Given the description of an element on the screen output the (x, y) to click on. 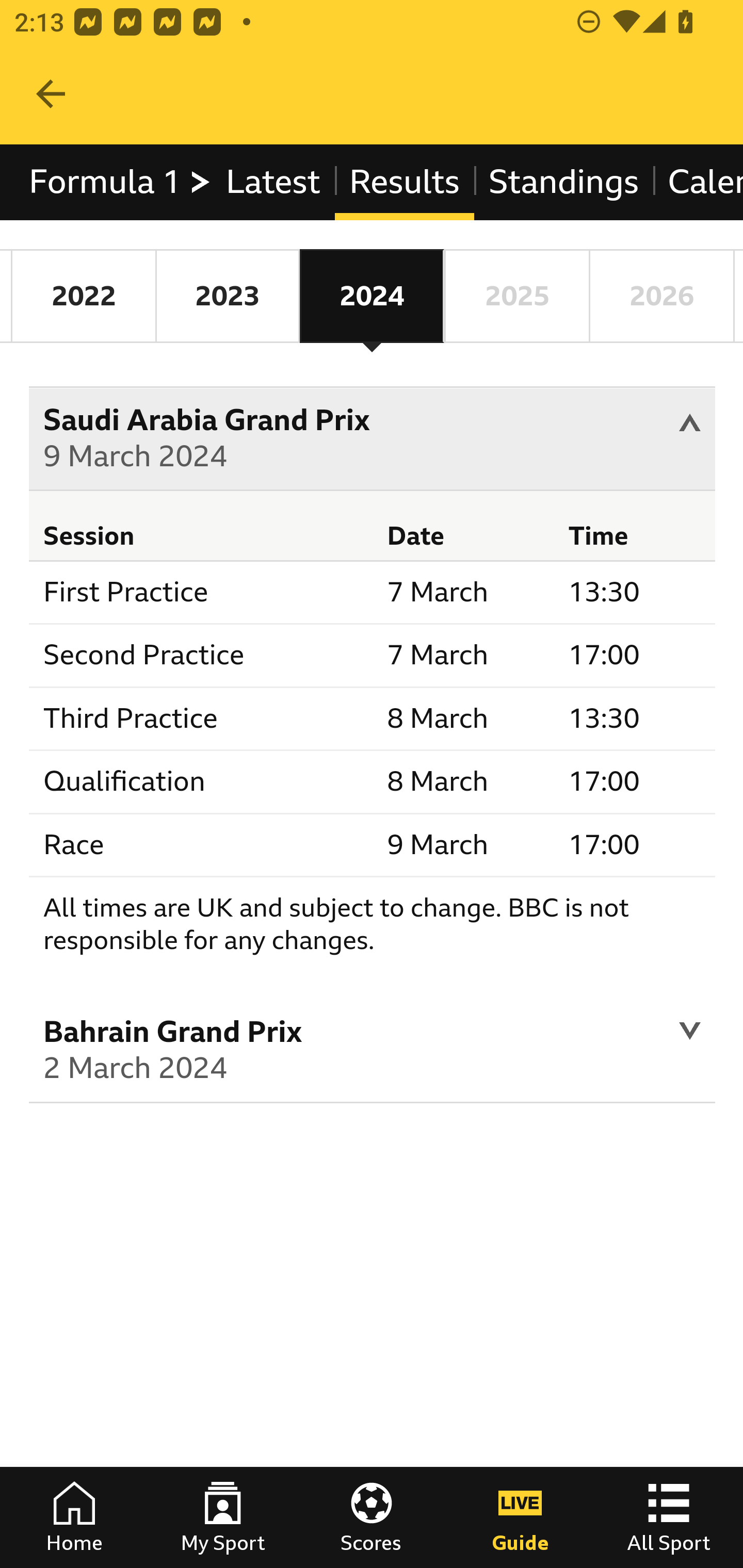
Navigate up (50, 93)
Formula 1  (120, 181)
Latest (272, 181)
Results (403, 181)
Standings (564, 181)
Calendar (697, 181)
2022 (83, 296)
2023 (227, 296)
2024, Selected 2024 , Selected (371, 296)
Bahrain Grand Prix, Bahrain IC 2 March 2024 (372, 1052)
Home (74, 1517)
My Sport (222, 1517)
Scores (371, 1517)
All Sport (668, 1517)
